Given the description of an element on the screen output the (x, y) to click on. 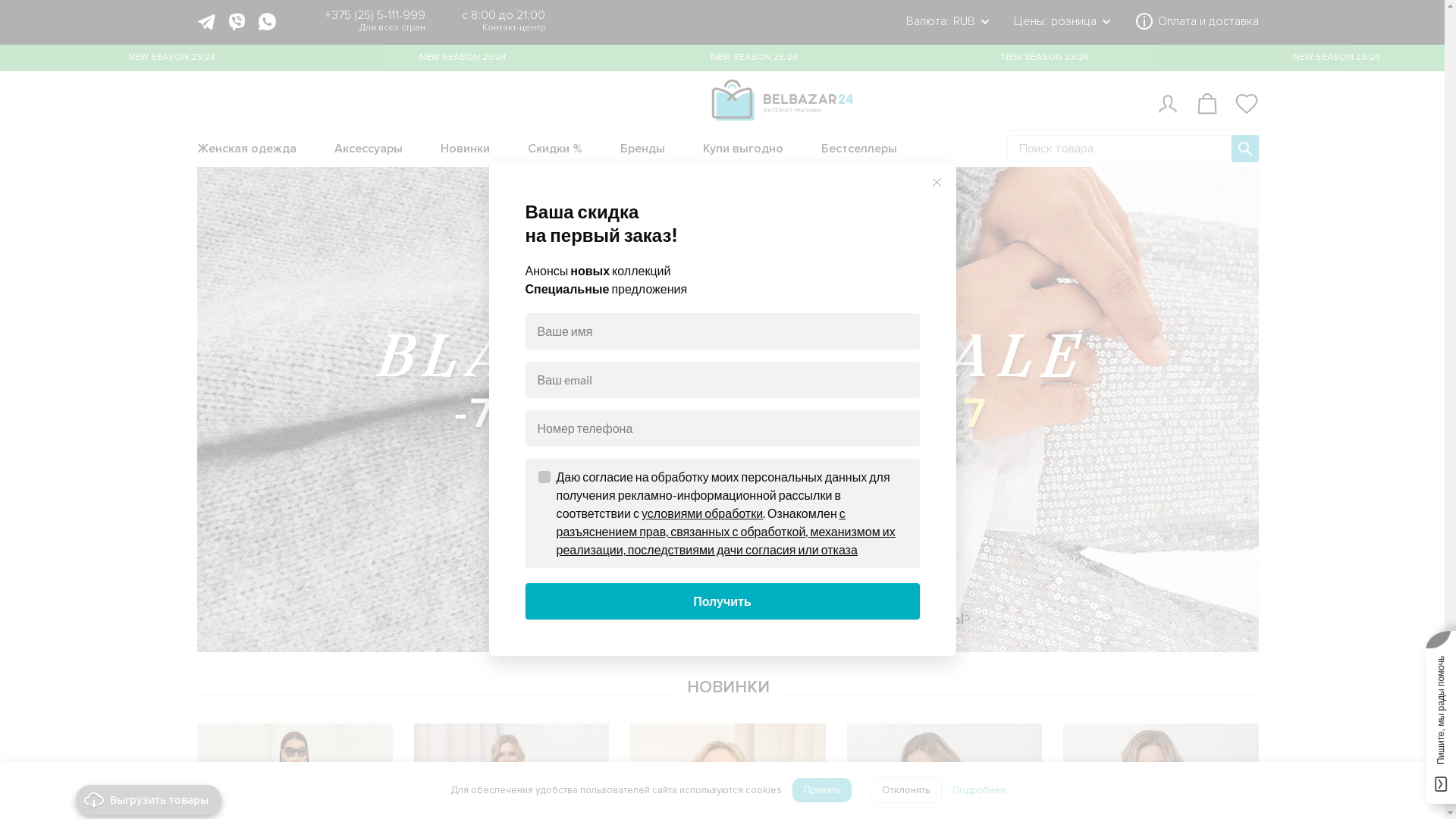
+375 (25) 5-111-999 Element type: text (374, 14)
